Given the description of an element on the screen output the (x, y) to click on. 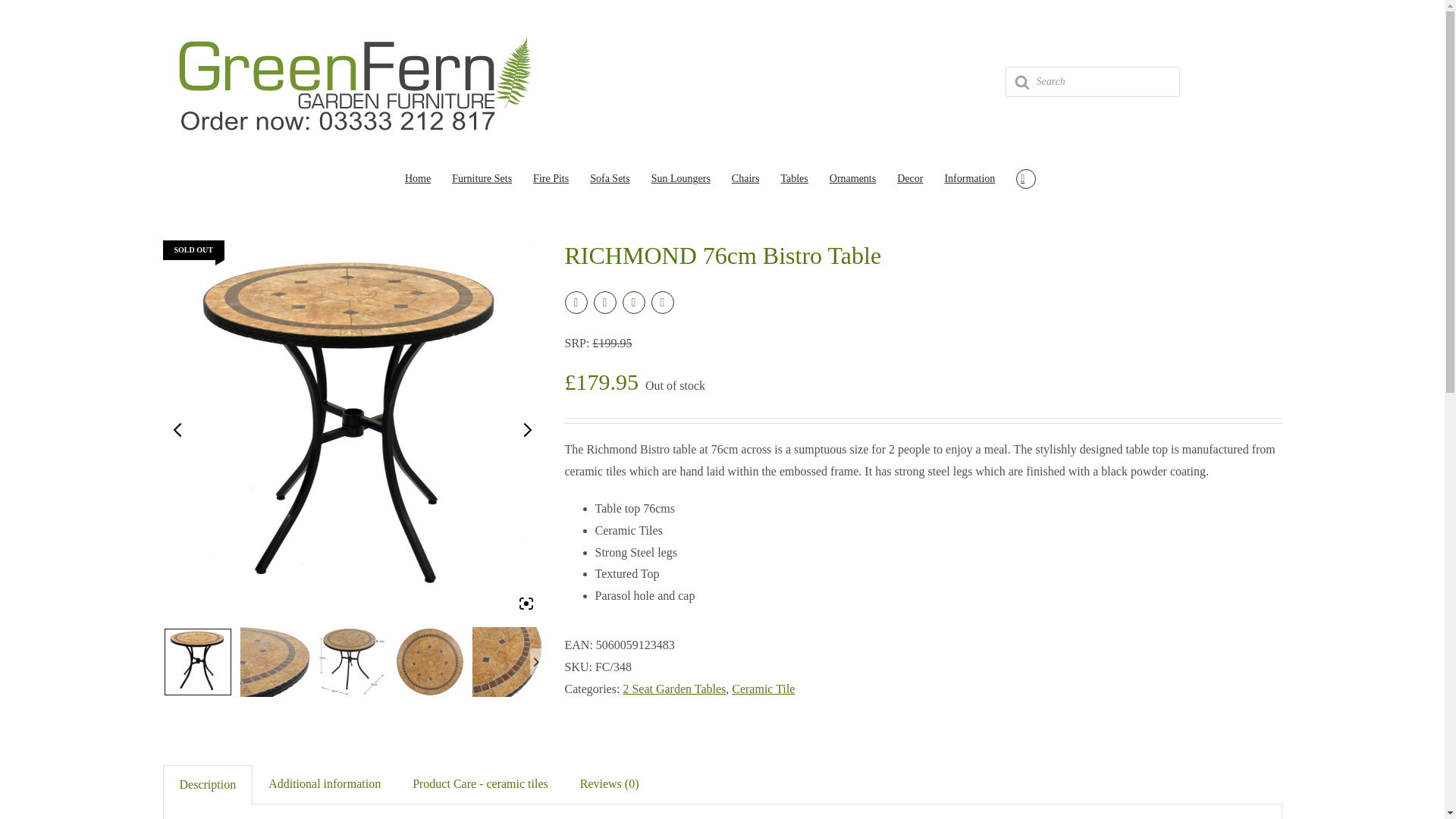
Furniture Sets (481, 178)
Sofa Sets (609, 178)
Information (969, 178)
Decor (909, 178)
Fire Pits (550, 178)
Chairs (745, 178)
Tables (794, 178)
Sun Loungers (680, 178)
GreenFern Garden Furniture Home Page (417, 178)
Home (417, 178)
Ornaments (852, 178)
